Given the description of an element on the screen output the (x, y) to click on. 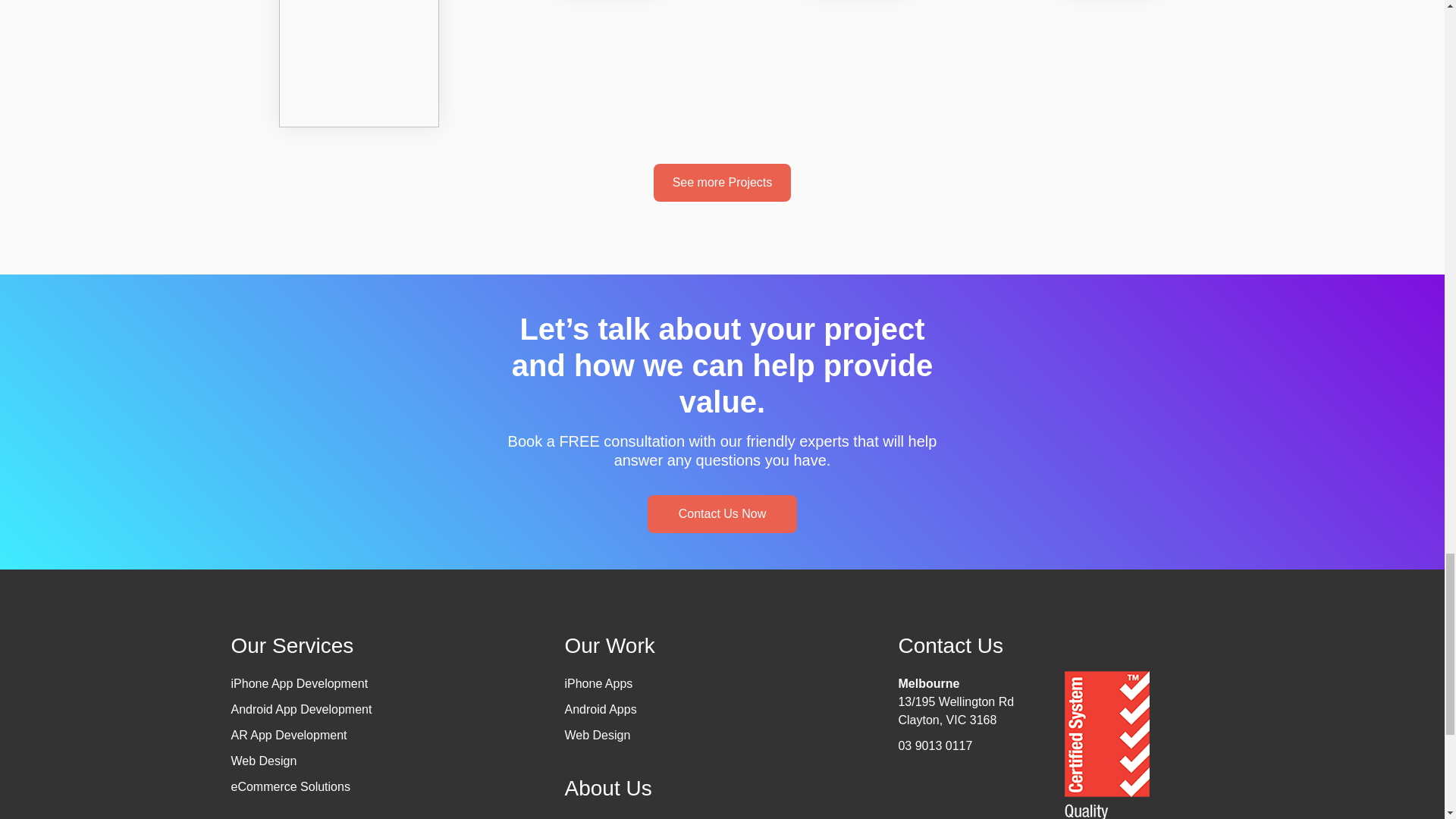
See more Projects (722, 182)
Bendix (359, 45)
